Given the description of an element on the screen output the (x, y) to click on. 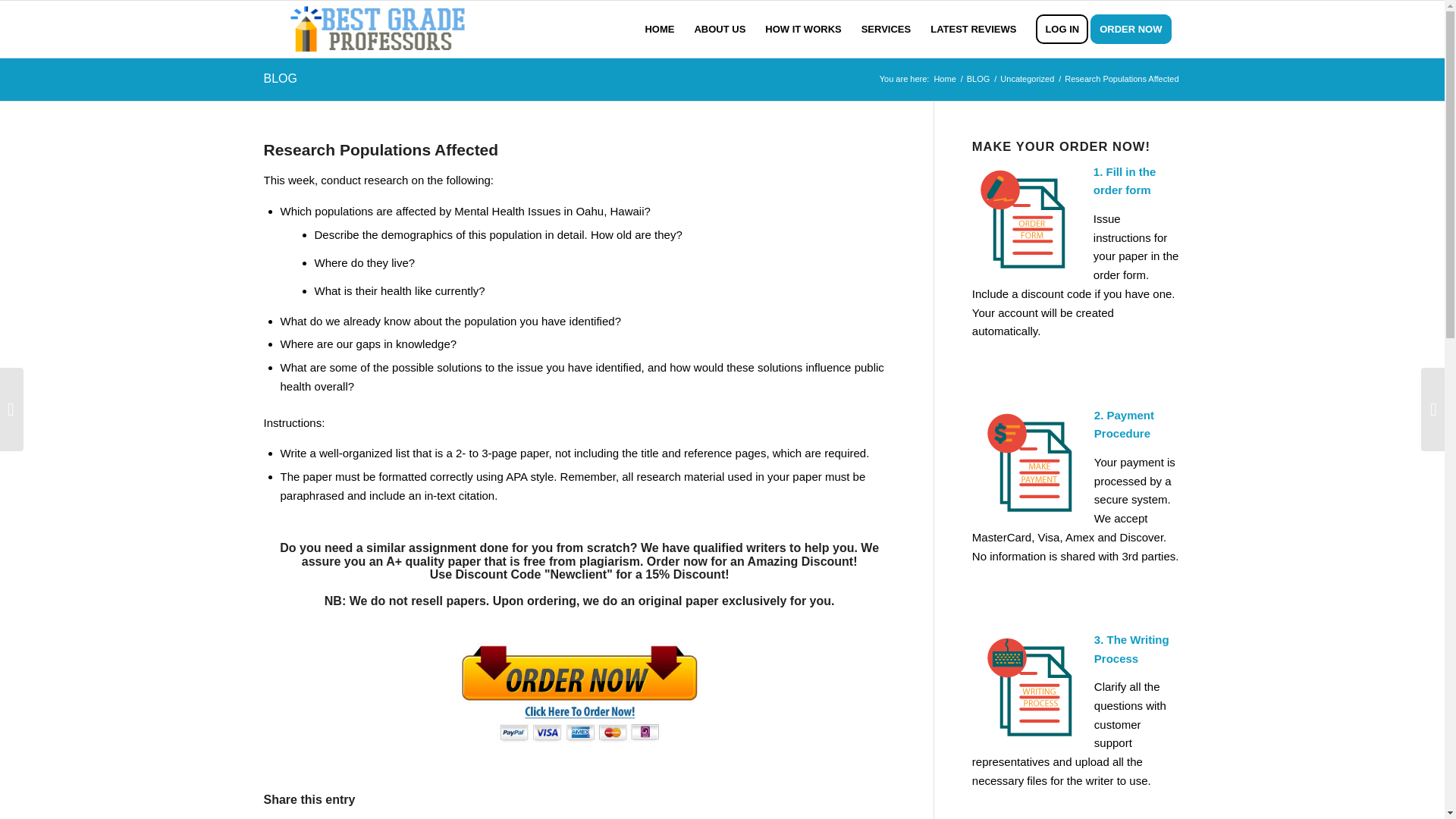
BLOG (977, 79)
SERVICES (886, 28)
Home (944, 79)
ORDER NOW (1135, 28)
BLOG (280, 78)
LATEST REVIEWS (973, 28)
bestgradeprofessors.com (944, 79)
ABOUT US (719, 28)
Permanent Link: Research Populations Affected (381, 149)
LOG IN (1061, 28)
